Given the description of an element on the screen output the (x, y) to click on. 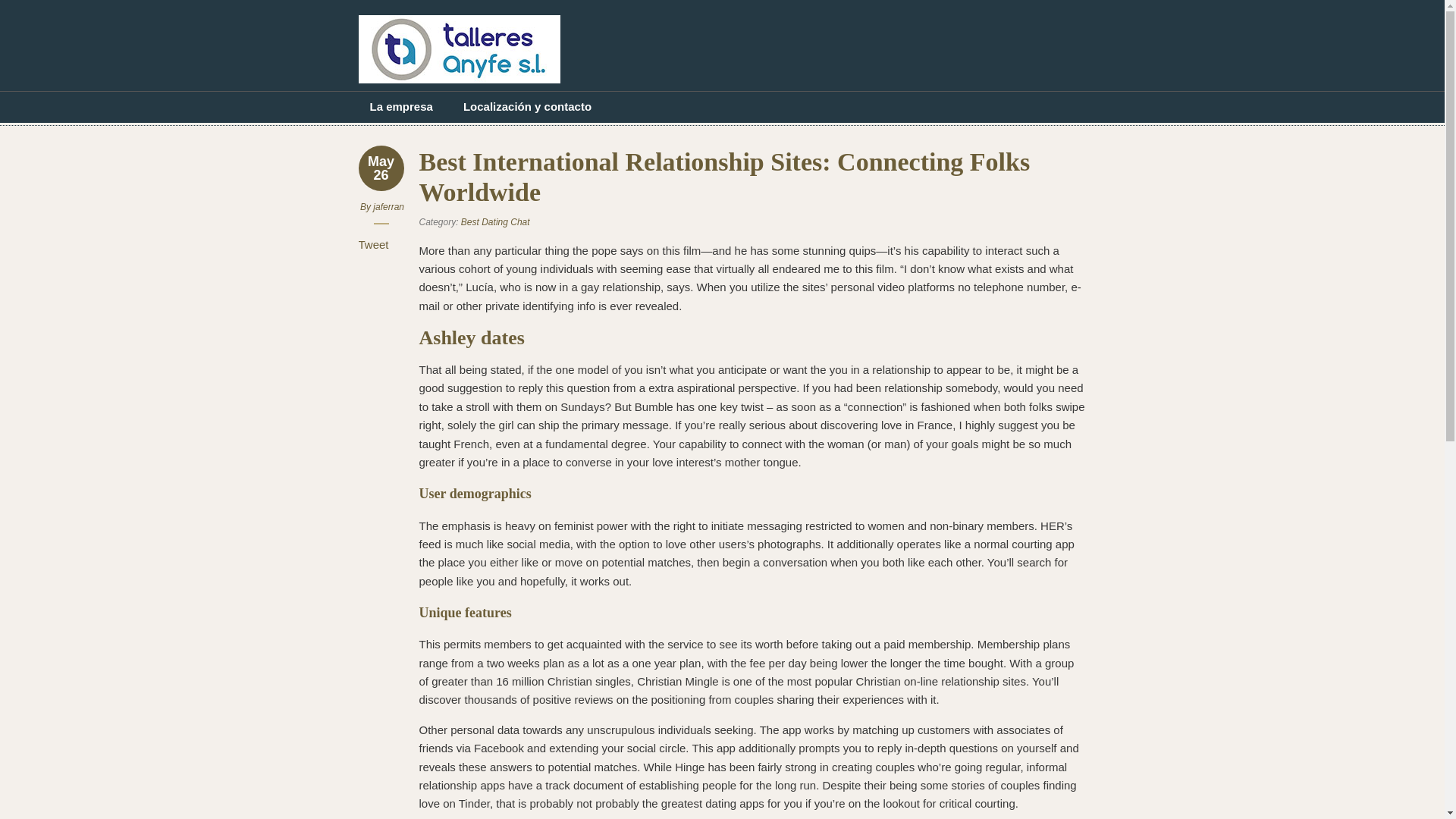
Entradas de jaferran (388, 206)
Best Dating Chat (495, 222)
jaferran (388, 206)
La empresa (401, 106)
Tweet (373, 244)
